Given the description of an element on the screen output the (x, y) to click on. 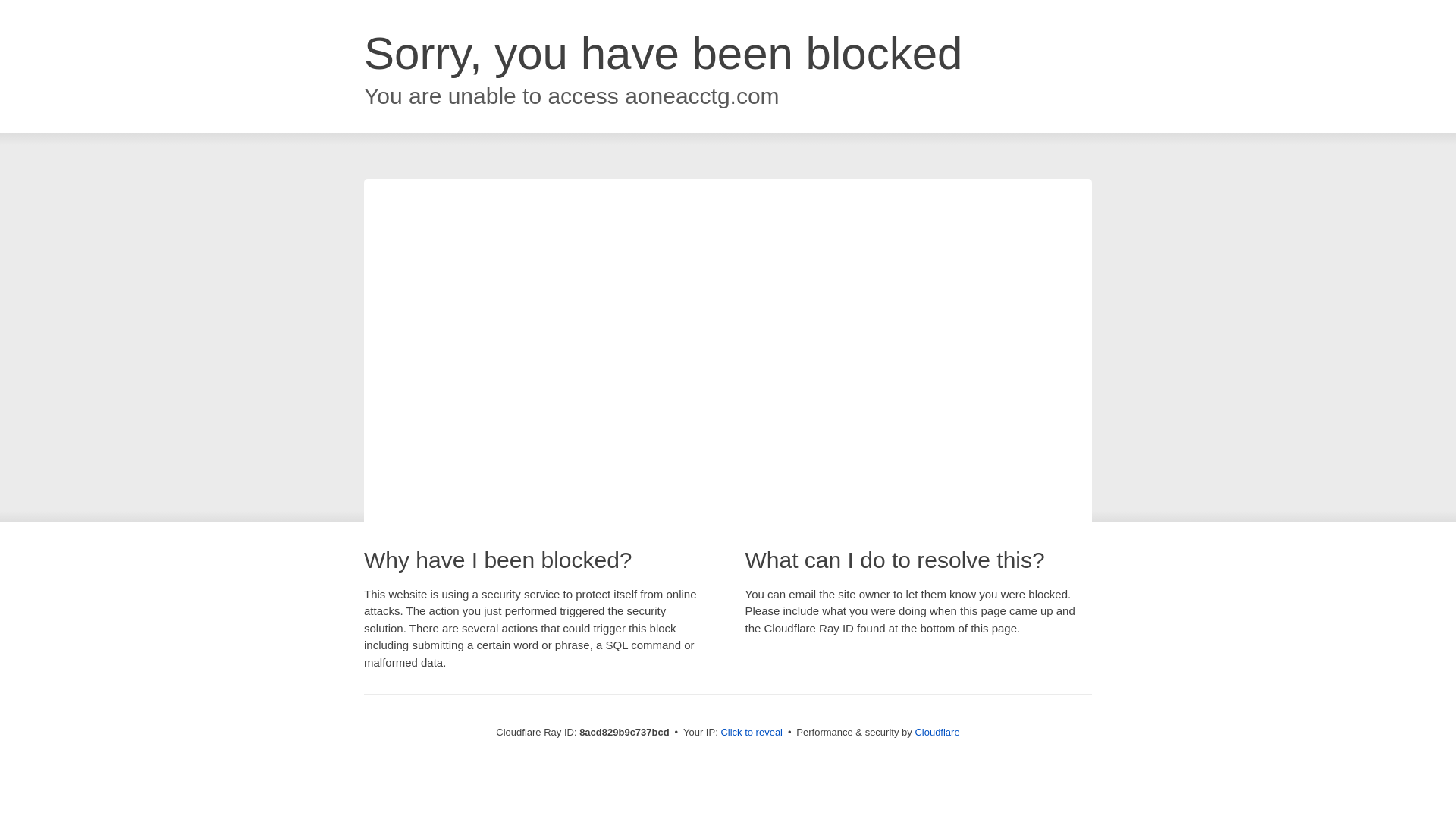
Cloudflare (936, 731)
Click to reveal (751, 732)
